Given the description of an element on the screen output the (x, y) to click on. 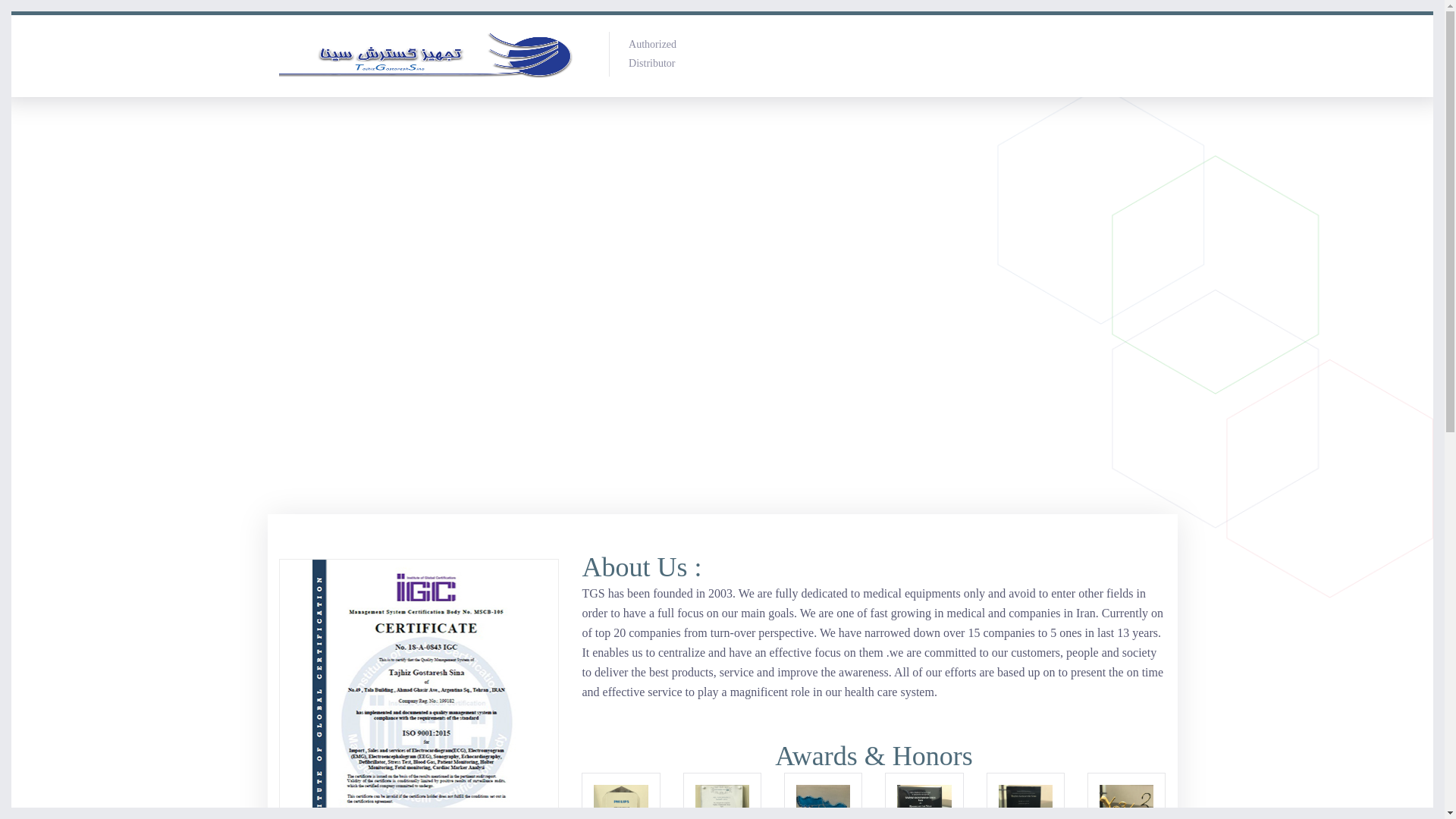
Search (1362, 90)
